Given the description of an element on the screen output the (x, y) to click on. 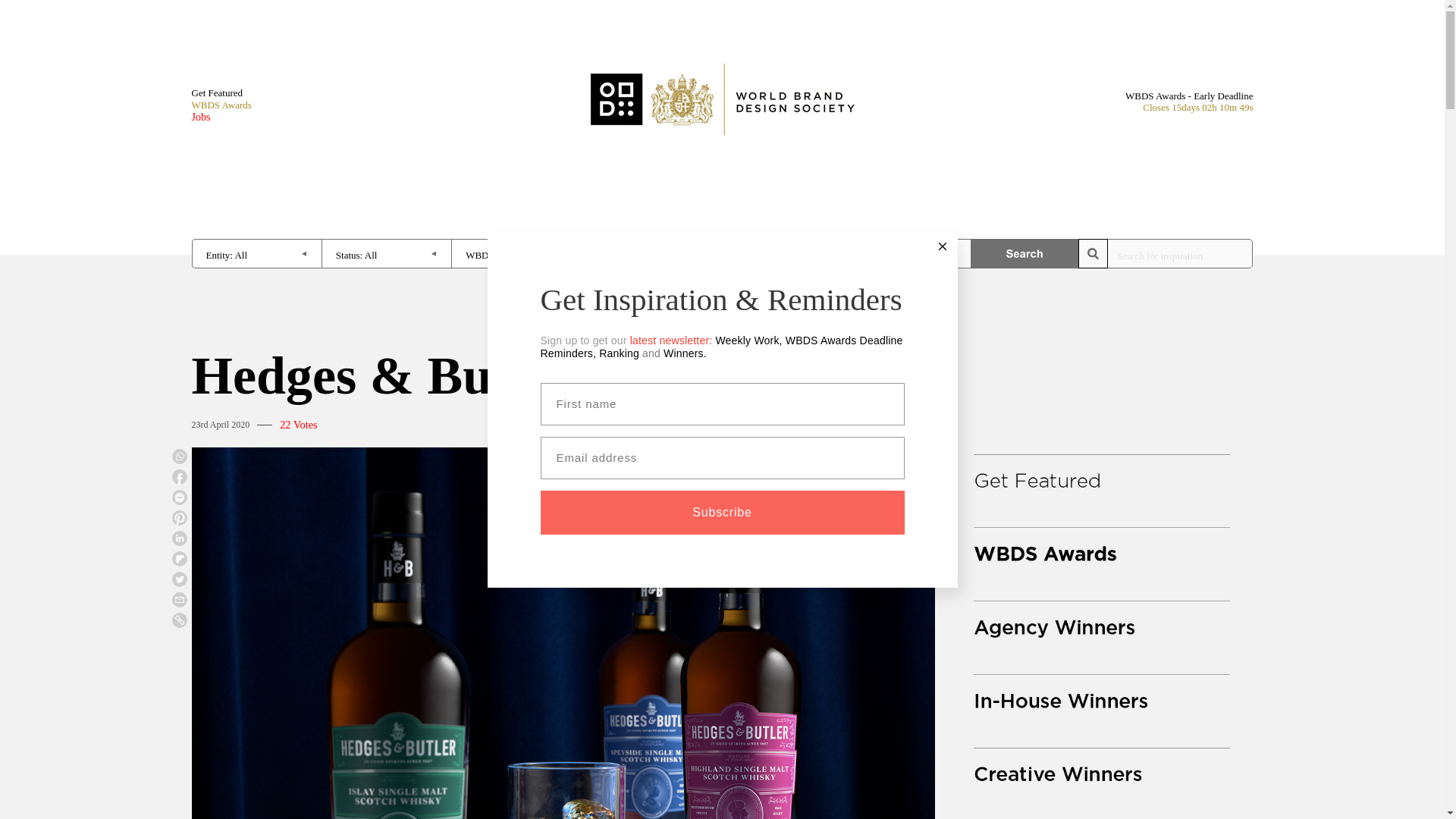
WBDS Awards (220, 104)
Search (1024, 253)
Search (1024, 253)
Jobs (220, 117)
Get Featured (220, 92)
